Given the description of an element on the screen output the (x, y) to click on. 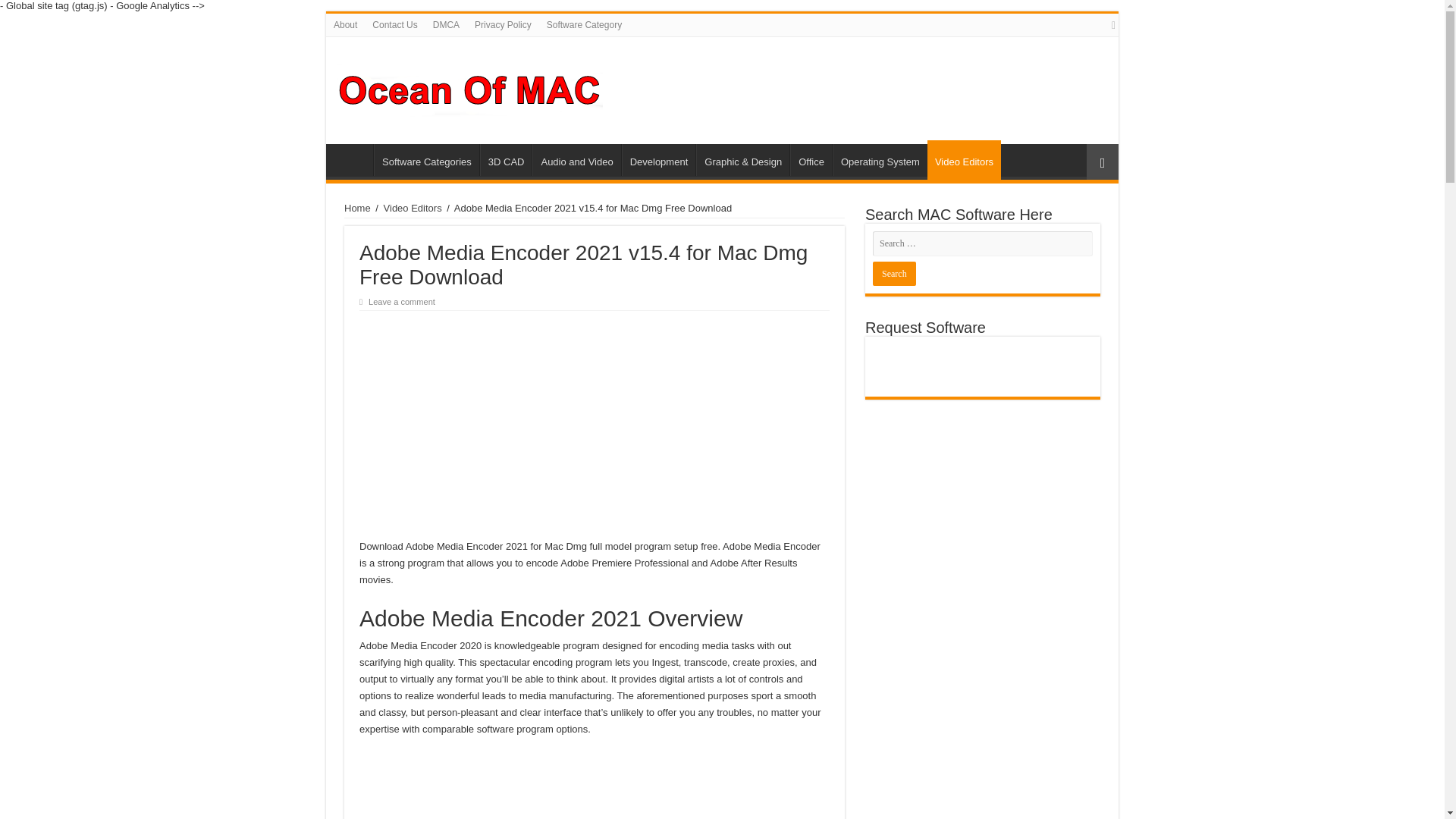
DMCA (446, 24)
Software Categories (426, 160)
Ocean Of Mac (469, 87)
Search (893, 273)
Home (352, 160)
3D CAD (506, 160)
Video Editors (413, 207)
Contact Us (395, 24)
Office (810, 160)
Video Editors (964, 159)
